Given the description of an element on the screen output the (x, y) to click on. 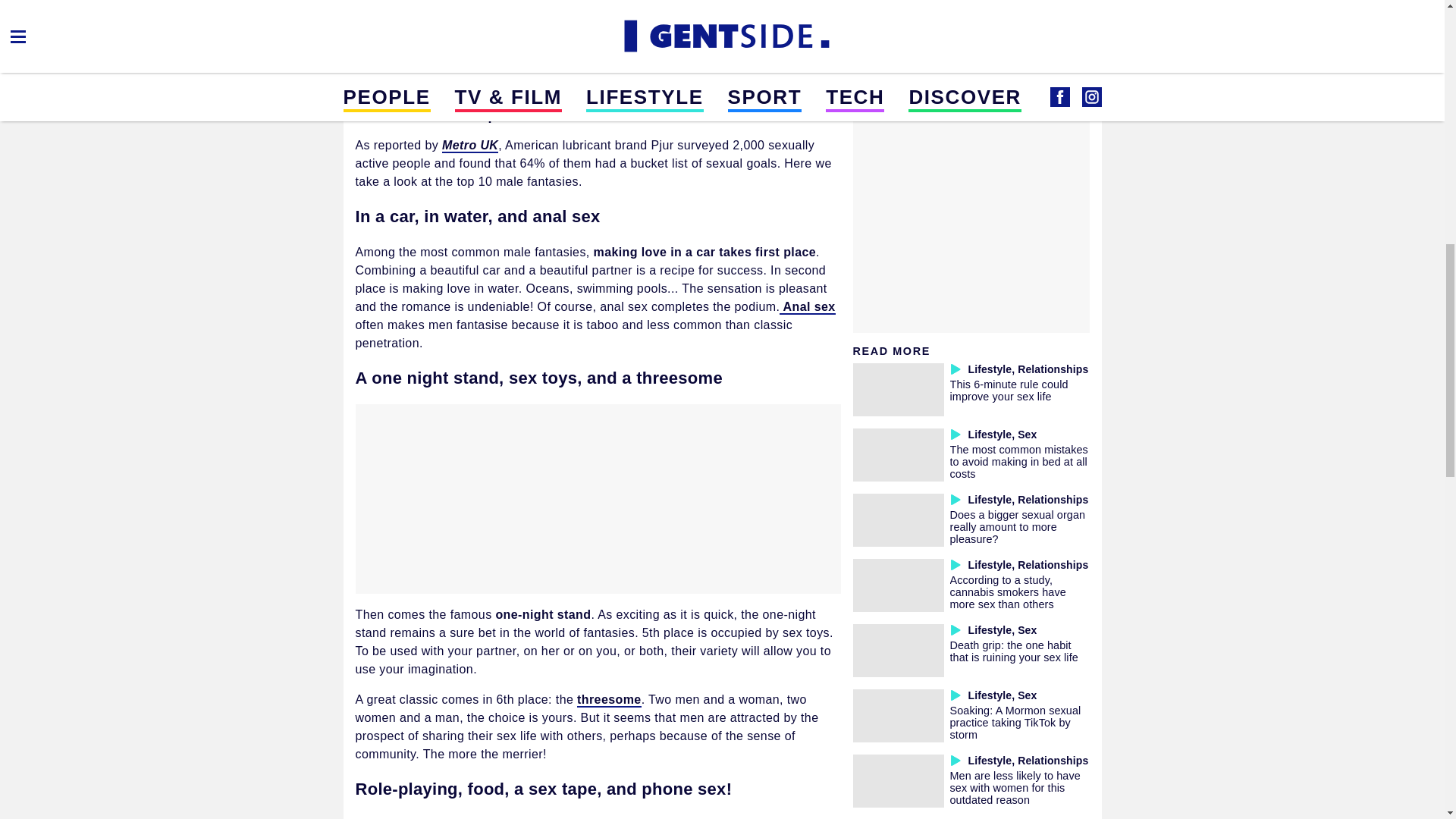
Metro UK (469, 145)
threesome (609, 699)
This 6-minute rule could improve your sex life (1008, 390)
Anal sex (806, 307)
The most common mistakes to avoid making in bed at all costs (1018, 461)
sexual fantasies (509, 66)
Does a bigger sexual organ really amount to more pleasure? (1016, 526)
